Given the description of an element on the screen output the (x, y) to click on. 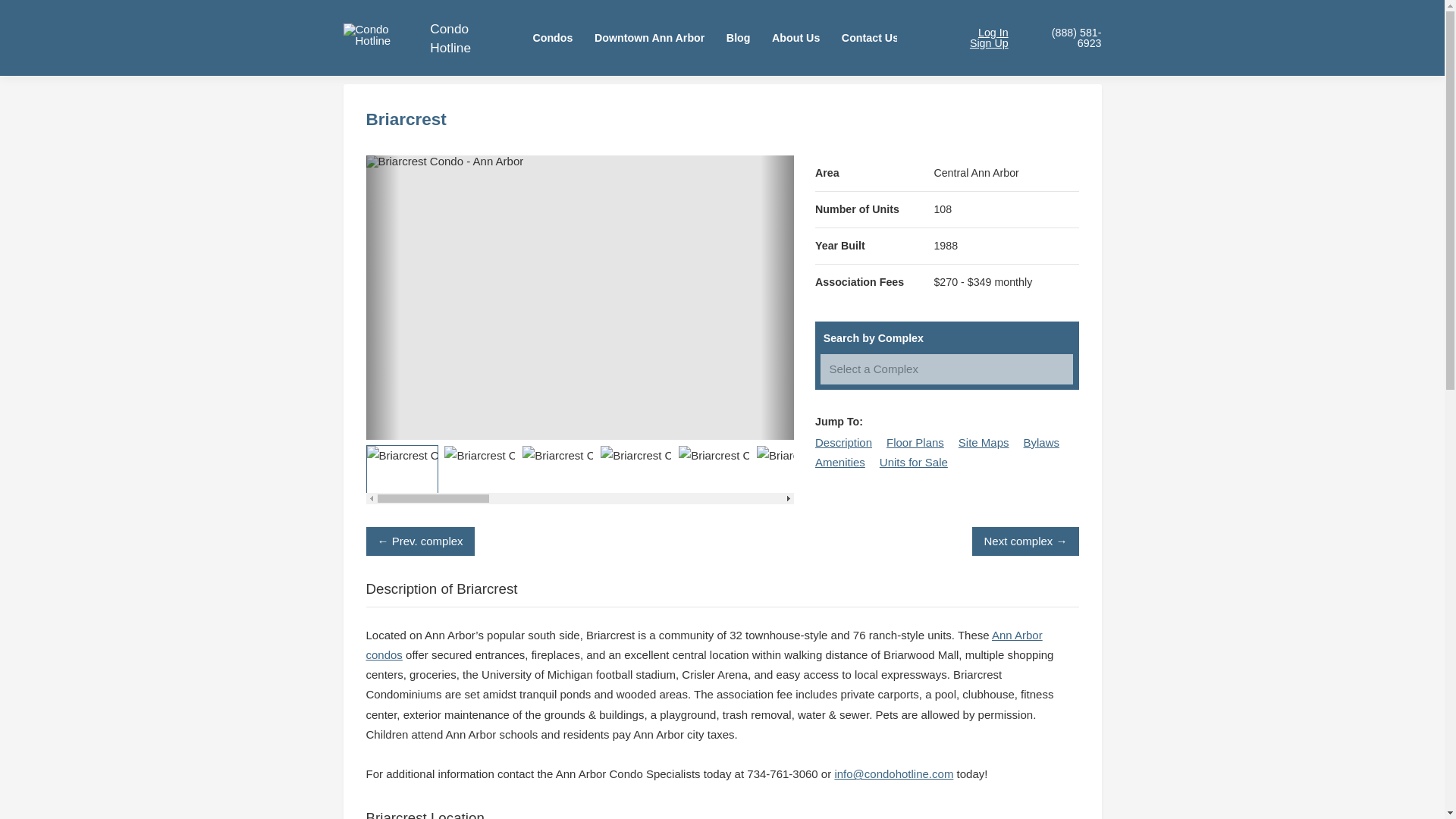
Floor Plans (914, 441)
Contact Us (870, 38)
Site Maps (983, 441)
About Us (796, 38)
Condos (552, 38)
Downtown Ann Arbor (649, 38)
Units for Sale (913, 461)
Amenities (839, 461)
Bylaws (1041, 441)
Log In (982, 32)
